Given the description of an element on the screen output the (x, y) to click on. 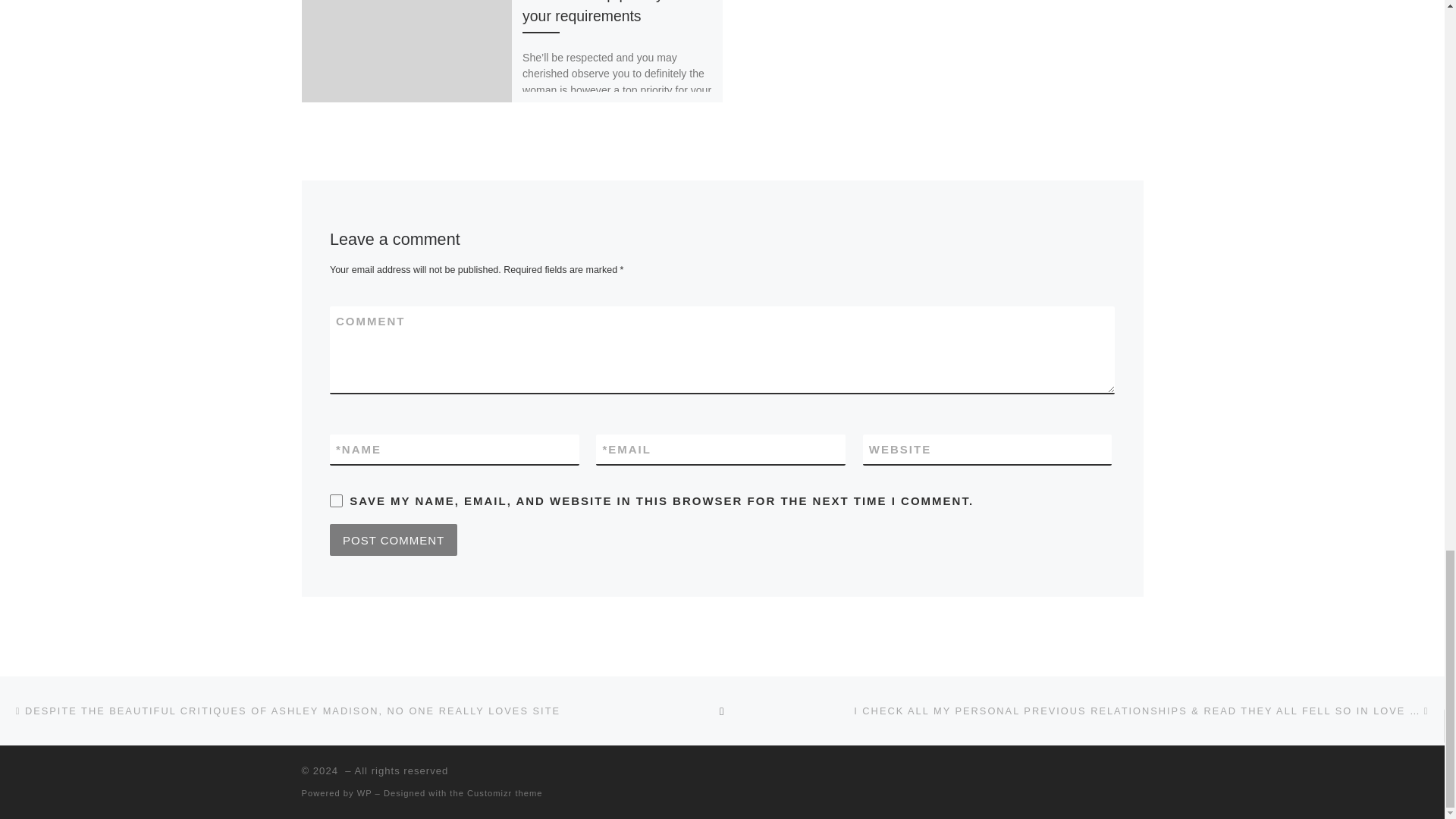
Powered by WordPress (364, 792)
WP (364, 792)
Post Comment (393, 540)
Customizr theme (505, 792)
Post Comment (393, 540)
yes (336, 500)
Customizr theme (505, 792)
